Given the description of an element on the screen output the (x, y) to click on. 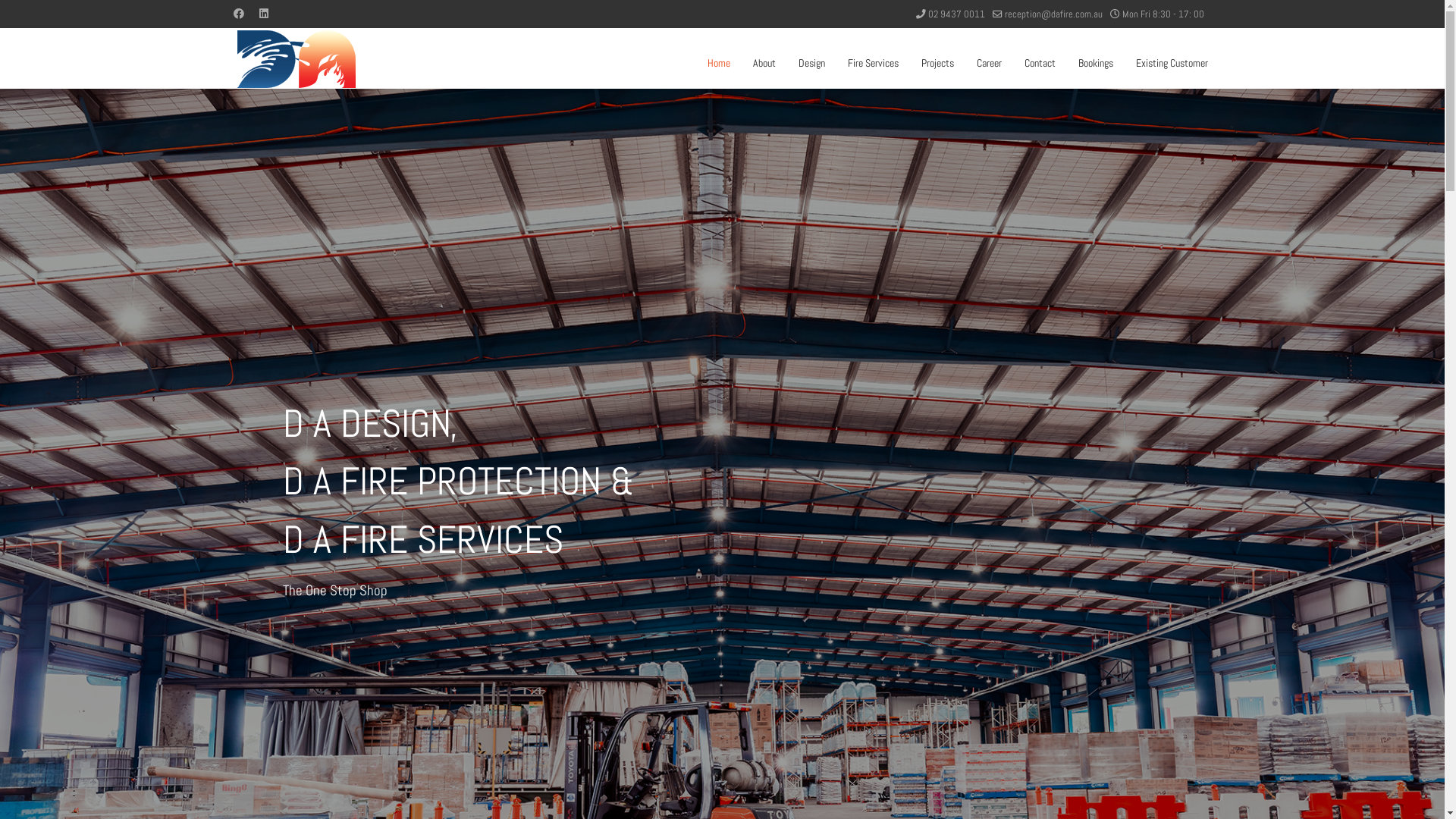
Home Element type: text (718, 62)
Contact Element type: text (1039, 62)
Career Element type: text (988, 62)
02 9437 0011 Element type: text (956, 14)
Fire Services Element type: text (872, 62)
Design Element type: text (811, 62)
reception@dafire.com.au Element type: text (1052, 14)
Bookings Element type: text (1094, 62)
Existing Customer Element type: text (1165, 62)
About Element type: text (764, 62)
Projects Element type: text (937, 62)
